Given the description of an element on the screen output the (x, y) to click on. 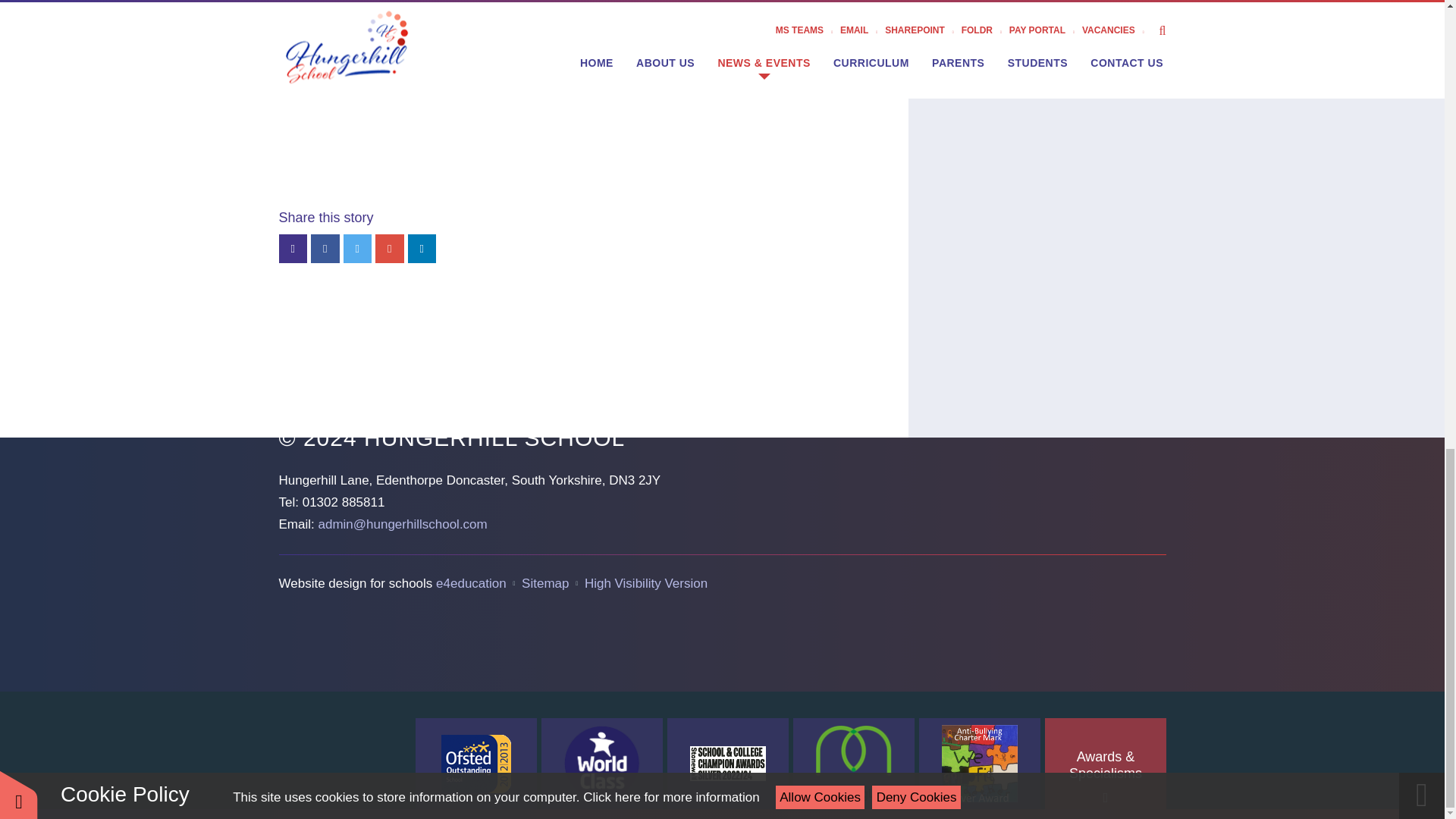
WCSQM (601, 763)
Anti -Bullying (979, 763)
MHA (853, 763)
Stonewall School Champion (727, 763)
Ofsted (475, 763)
